Given the description of an element on the screen output the (x, y) to click on. 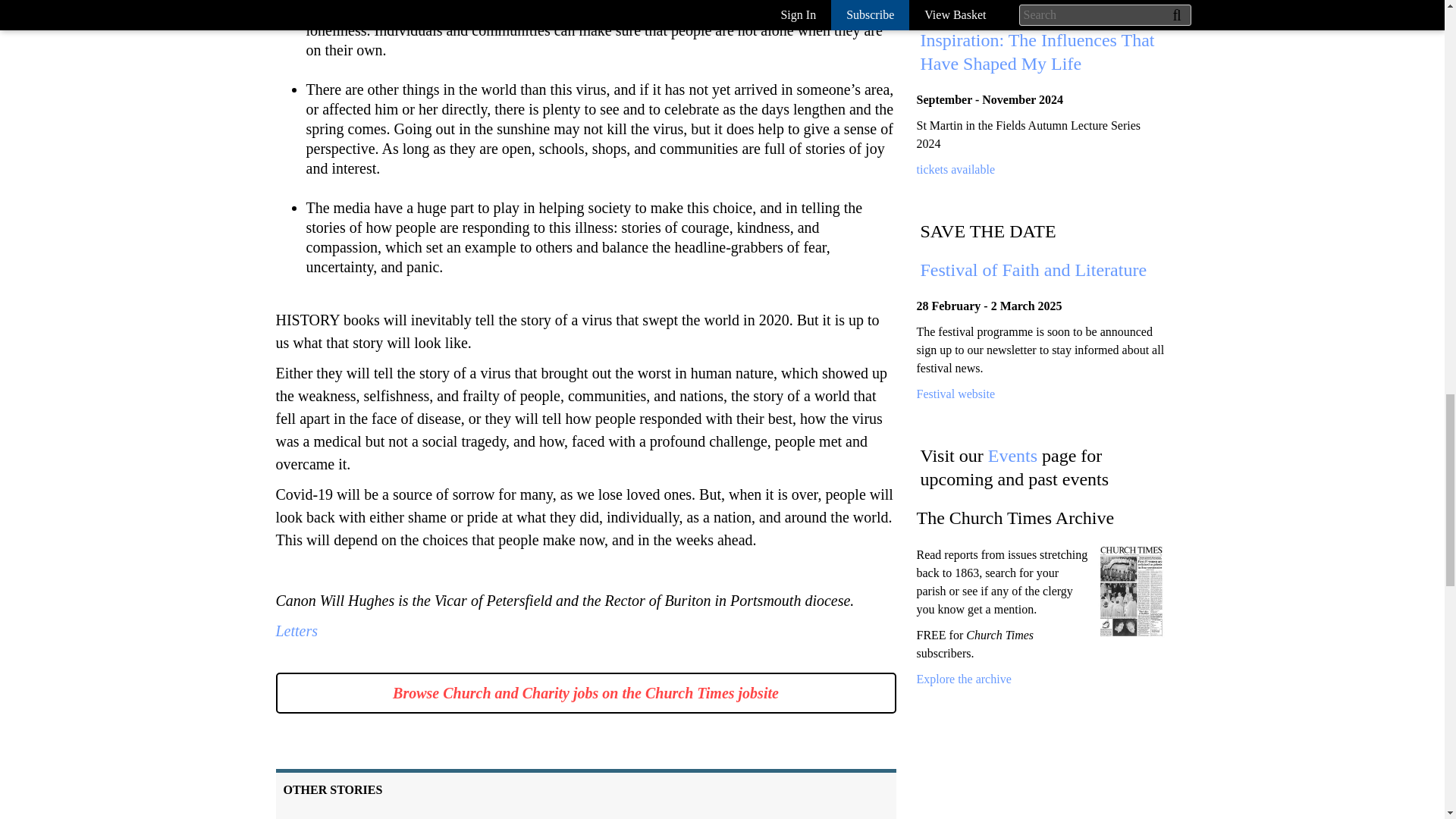
Archive (962, 678)
Inspiration: The Influences That Have Shaped My Life (1037, 51)
Inspiration: The Influences That Have Shaped My Life (954, 169)
